Given the description of an element on the screen output the (x, y) to click on. 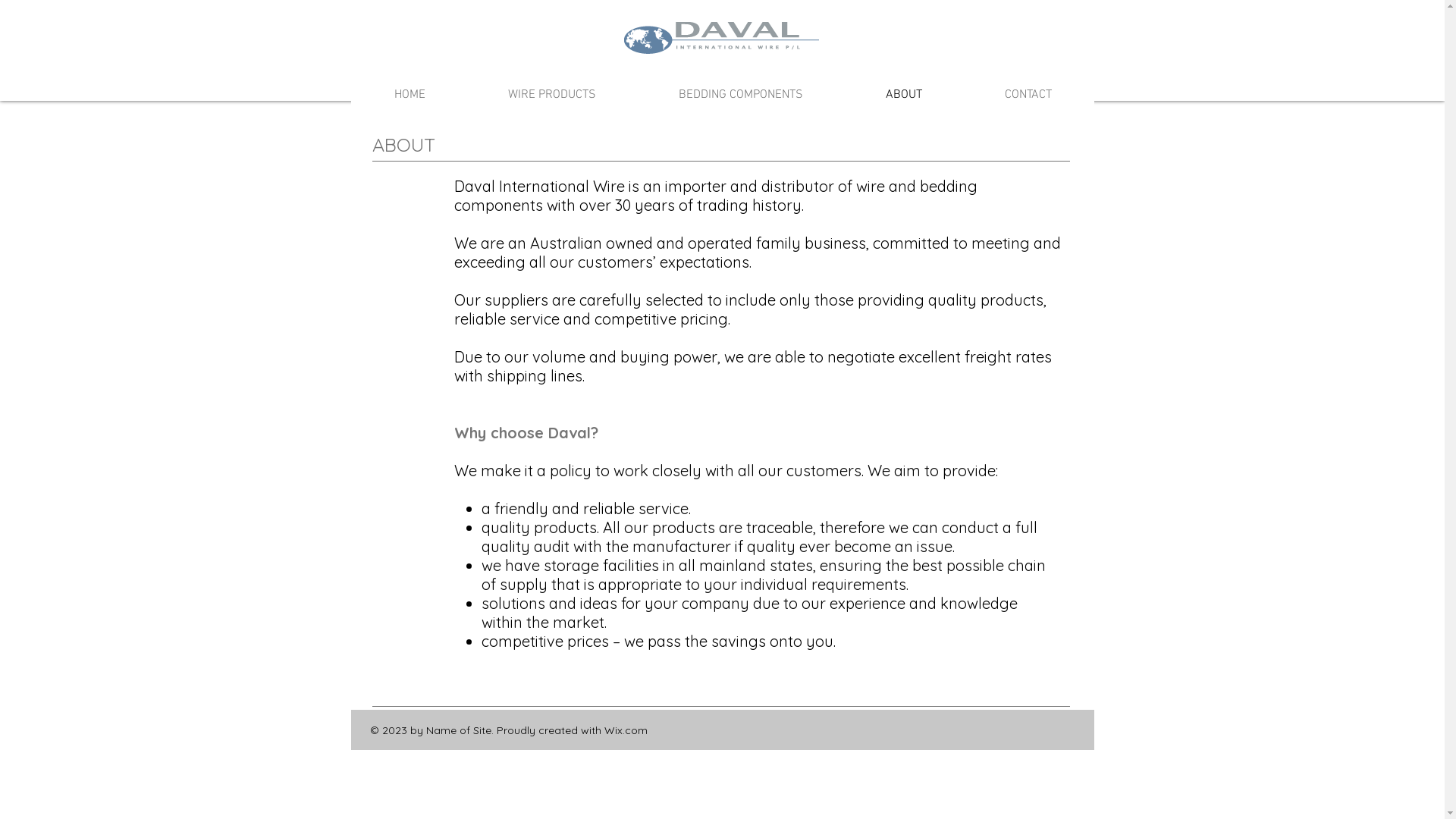
ABOUT Element type: text (903, 94)
CONTACT Element type: text (1027, 94)
WIRE PRODUCTS Element type: text (552, 94)
DAVALLOGO1.png Element type: hover (720, 37)
HOME Element type: text (408, 94)
BEDDING COMPONENTS Element type: text (740, 94)
Wix.com Element type: text (624, 730)
